Given the description of an element on the screen output the (x, y) to click on. 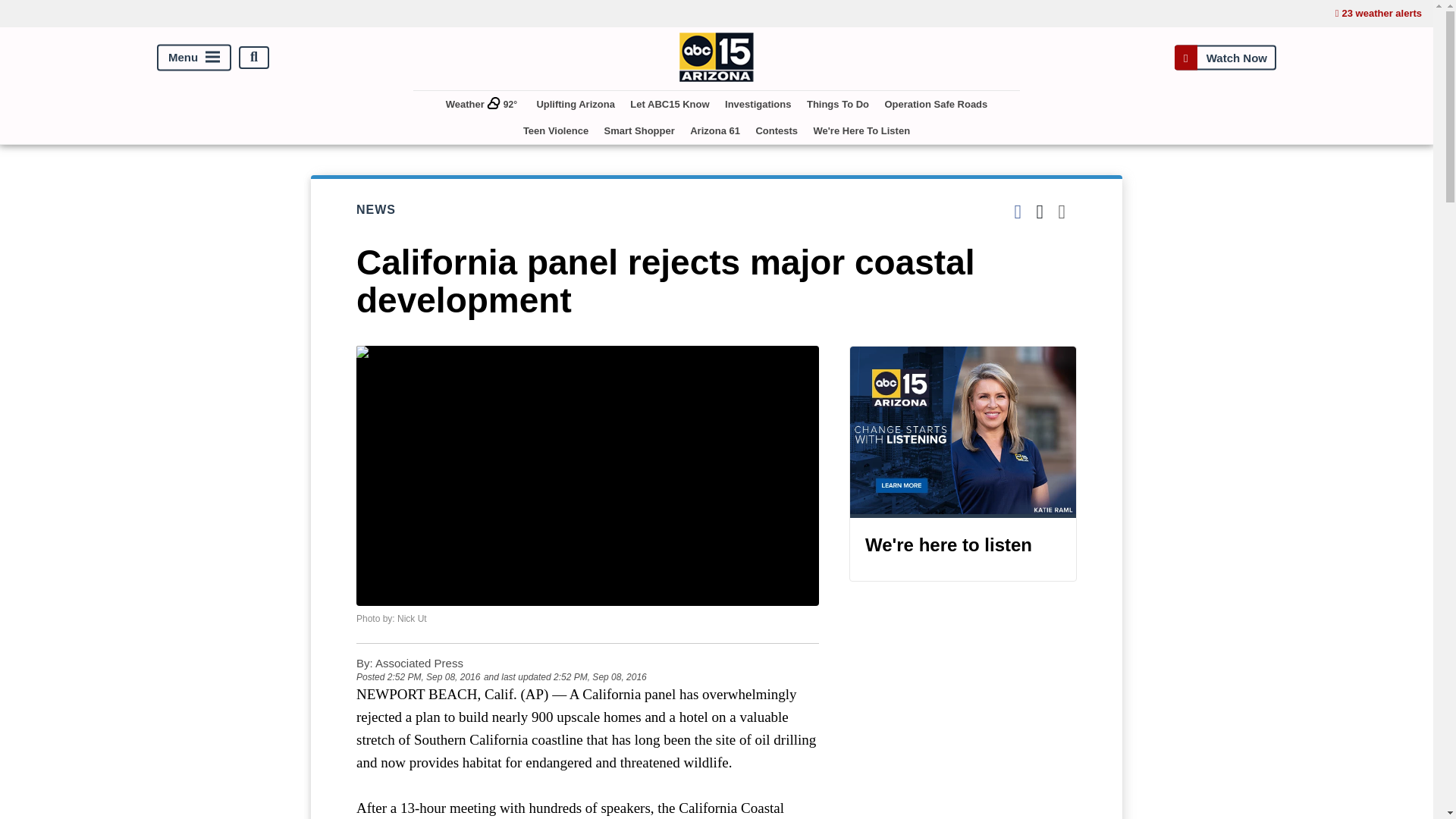
Menu (194, 57)
Watch Now (1224, 56)
